Given the description of an element on the screen output the (x, y) to click on. 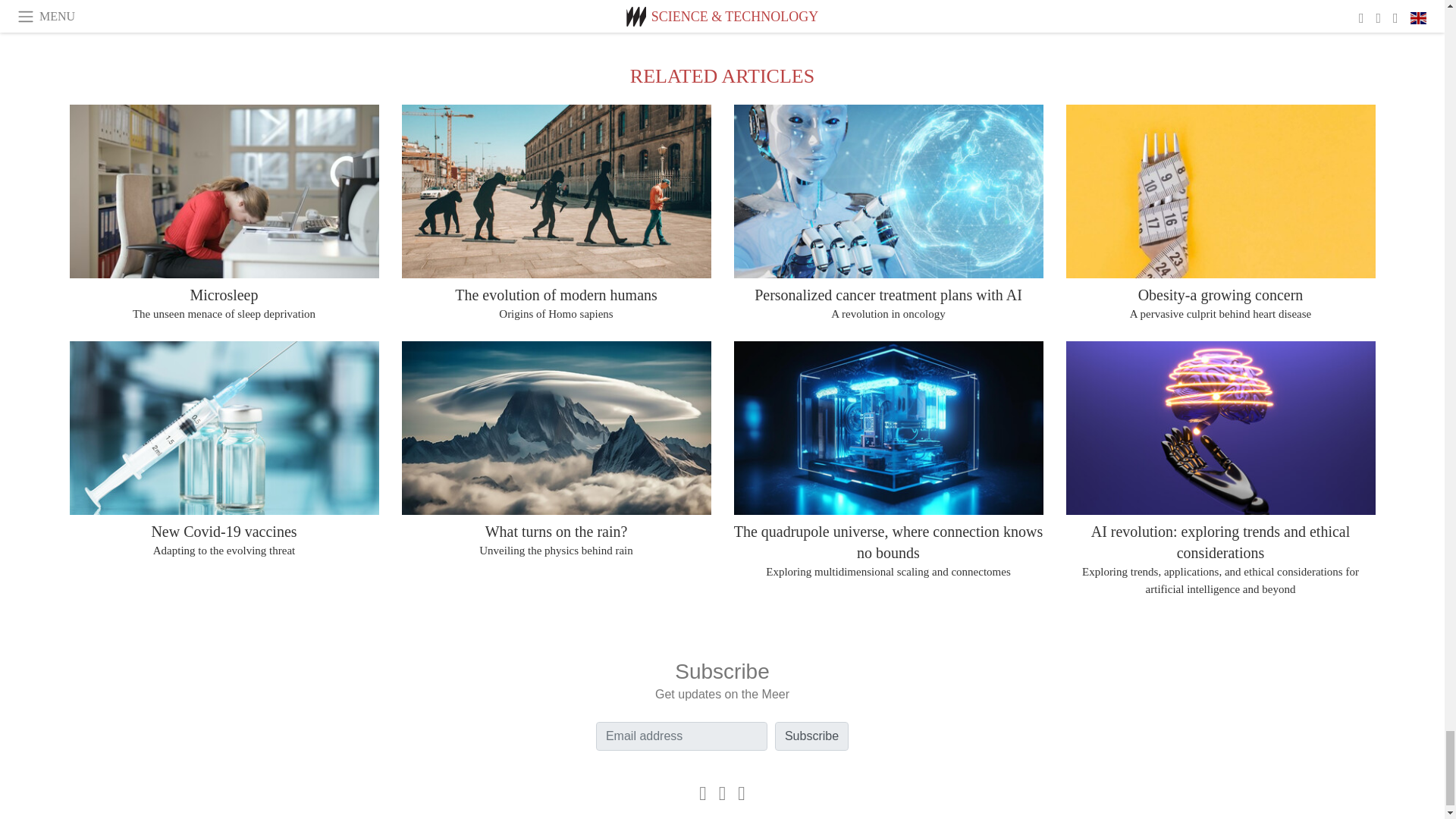
Subscribe (811, 736)
